Given the description of an element on the screen output the (x, y) to click on. 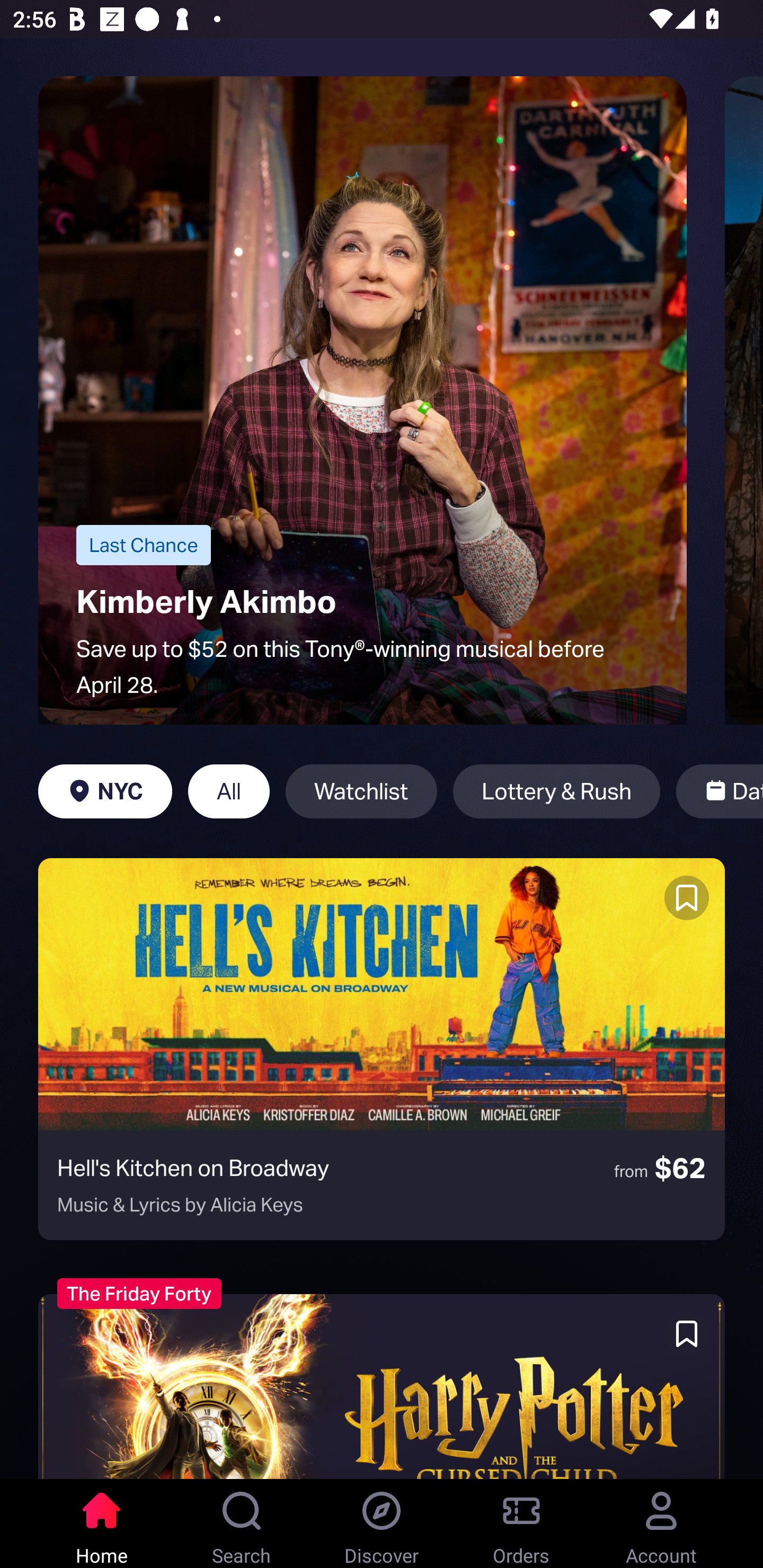
NYC (105, 791)
All (228, 791)
Watchlist (361, 791)
Lottery & Rush (556, 791)
Search (241, 1523)
Discover (381, 1523)
Orders (521, 1523)
Account (660, 1523)
